Given the description of an element on the screen output the (x, y) to click on. 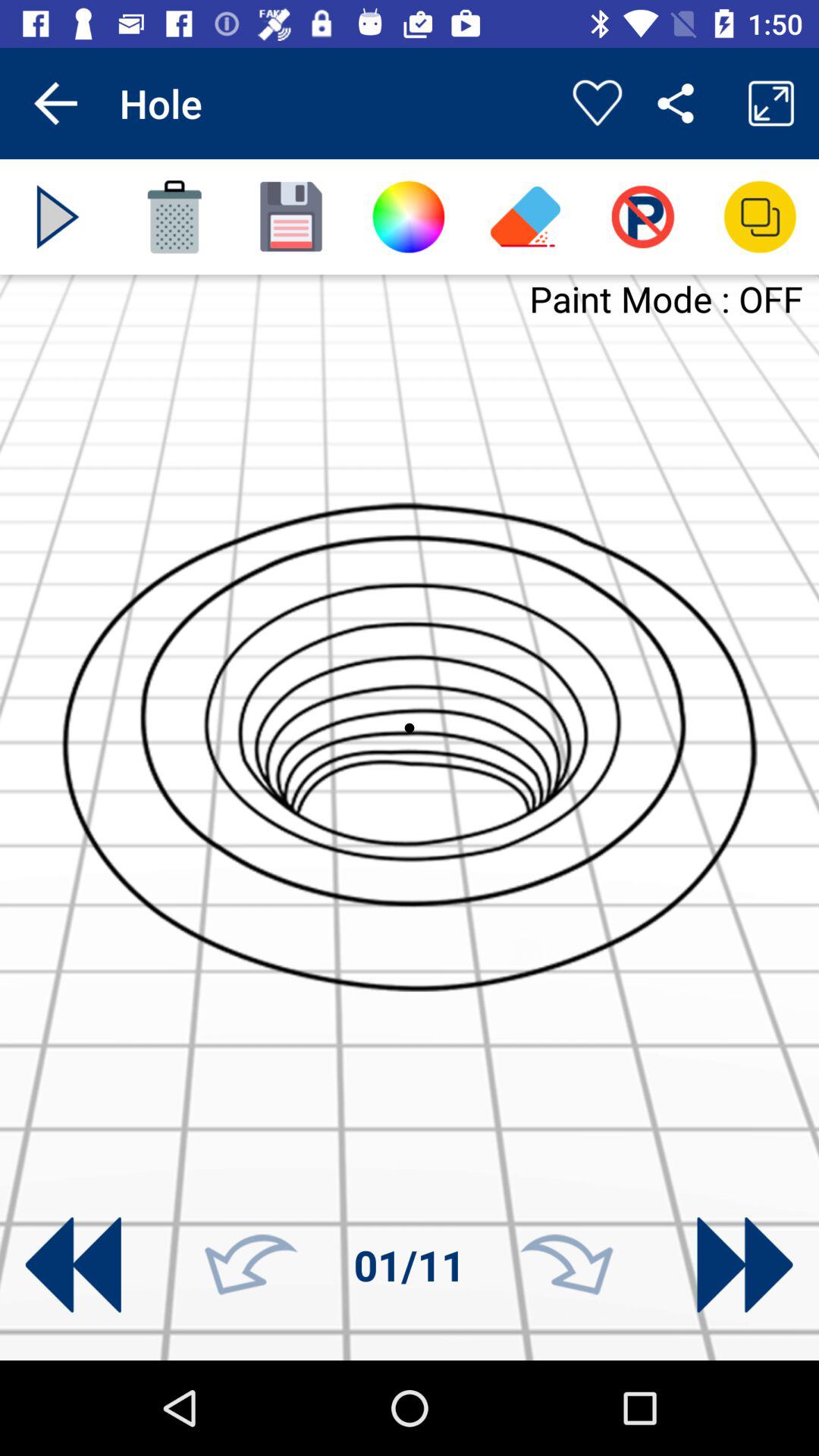
go forward (744, 1264)
